Given the description of an element on the screen output the (x, y) to click on. 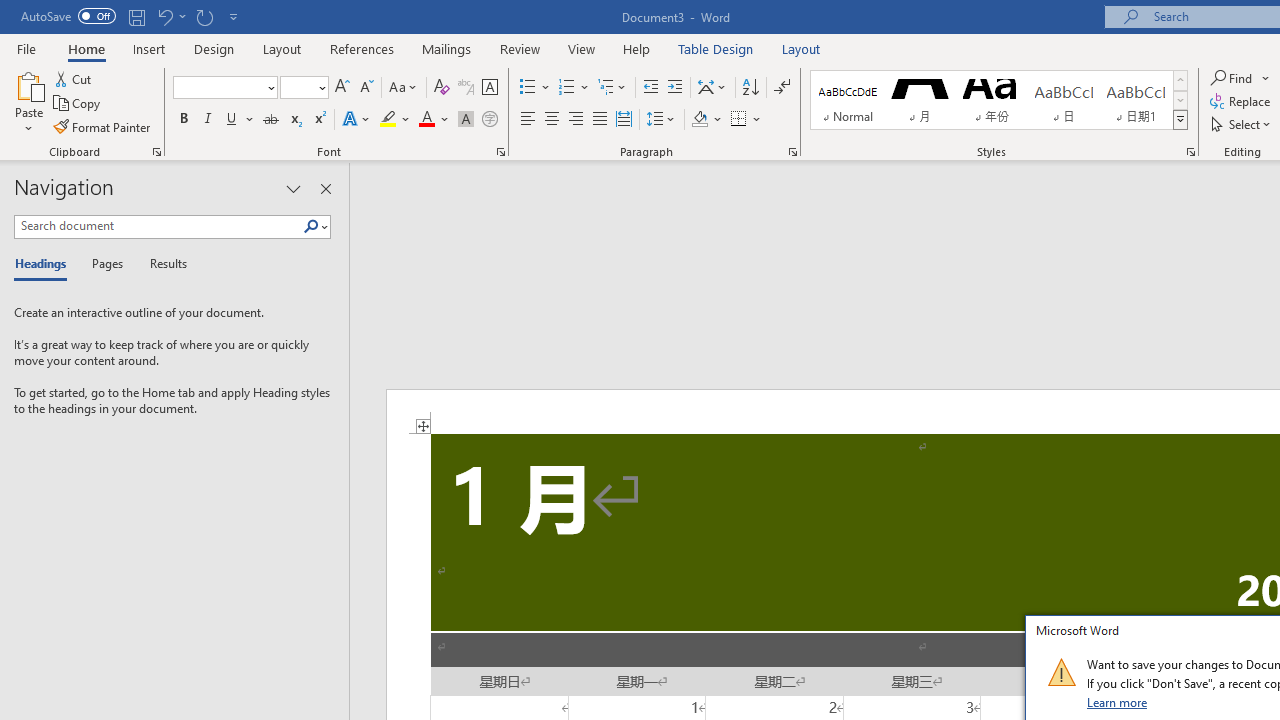
Justify (599, 119)
Font... (500, 151)
